Given the description of an element on the screen output the (x, y) to click on. 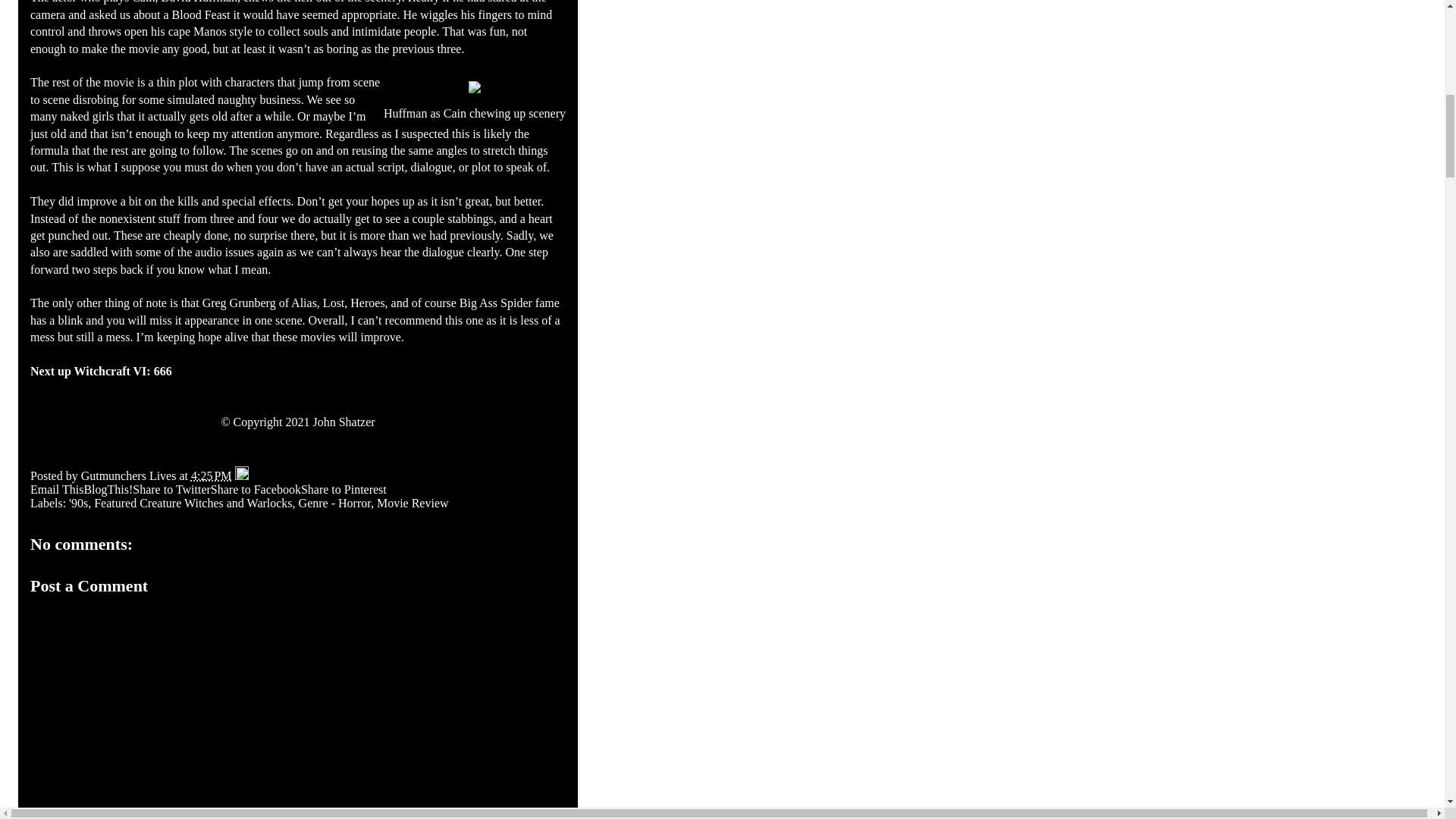
Share to Pinterest (344, 489)
Share to Pinterest (344, 489)
BlogThis! (107, 489)
Email This (56, 489)
Share to Facebook (256, 489)
Edit Post (241, 475)
Email This (56, 489)
BlogThis! (107, 489)
Next up Witchcraft VI: 666 (100, 370)
Genre - Horror (334, 502)
Share to Twitter (171, 489)
Share to Facebook (256, 489)
permanent link (210, 475)
Gutmunchers Lives (130, 475)
